Given the description of an element on the screen output the (x, y) to click on. 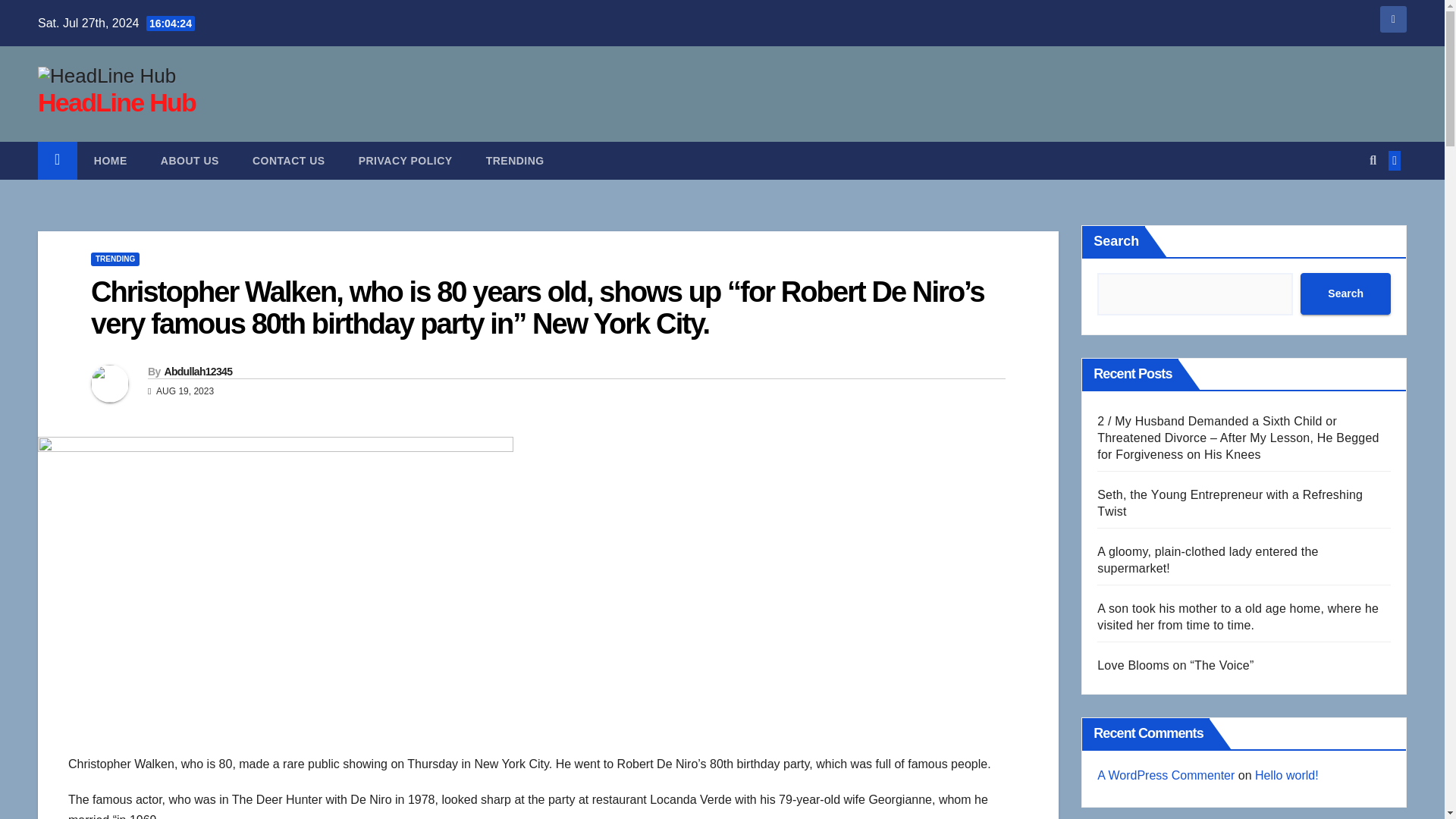
HeadLine Hub (116, 102)
Trending (514, 160)
CONTACT US (288, 160)
TRENDING (114, 259)
PRIVACY POLICY (405, 160)
TRENDING (514, 160)
About Us (189, 160)
Home (110, 160)
Privacy Policy (405, 160)
Contact Us (288, 160)
HOME (110, 160)
Abdullah12345 (197, 371)
ABOUT US (189, 160)
